Given the description of an element on the screen output the (x, y) to click on. 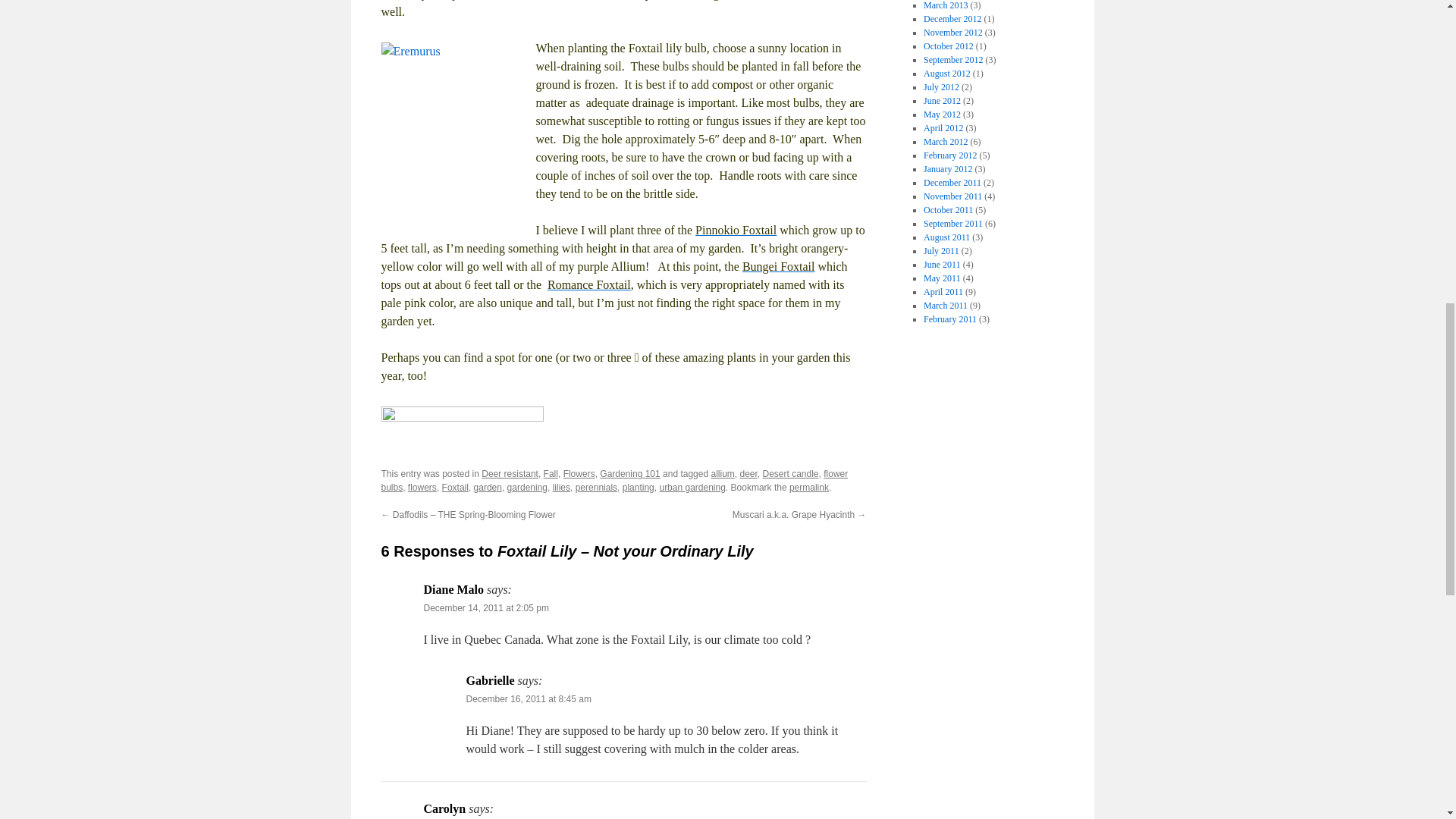
planting (638, 487)
gardening (526, 487)
Deer resistant (509, 473)
Fall (550, 473)
Gardening 101 (629, 473)
Flowers (579, 473)
urban gardening (692, 487)
Bungei Foxtail (778, 266)
flowers (421, 487)
December 16, 2011 at 8:45 am (528, 698)
